Given the description of an element on the screen output the (x, y) to click on. 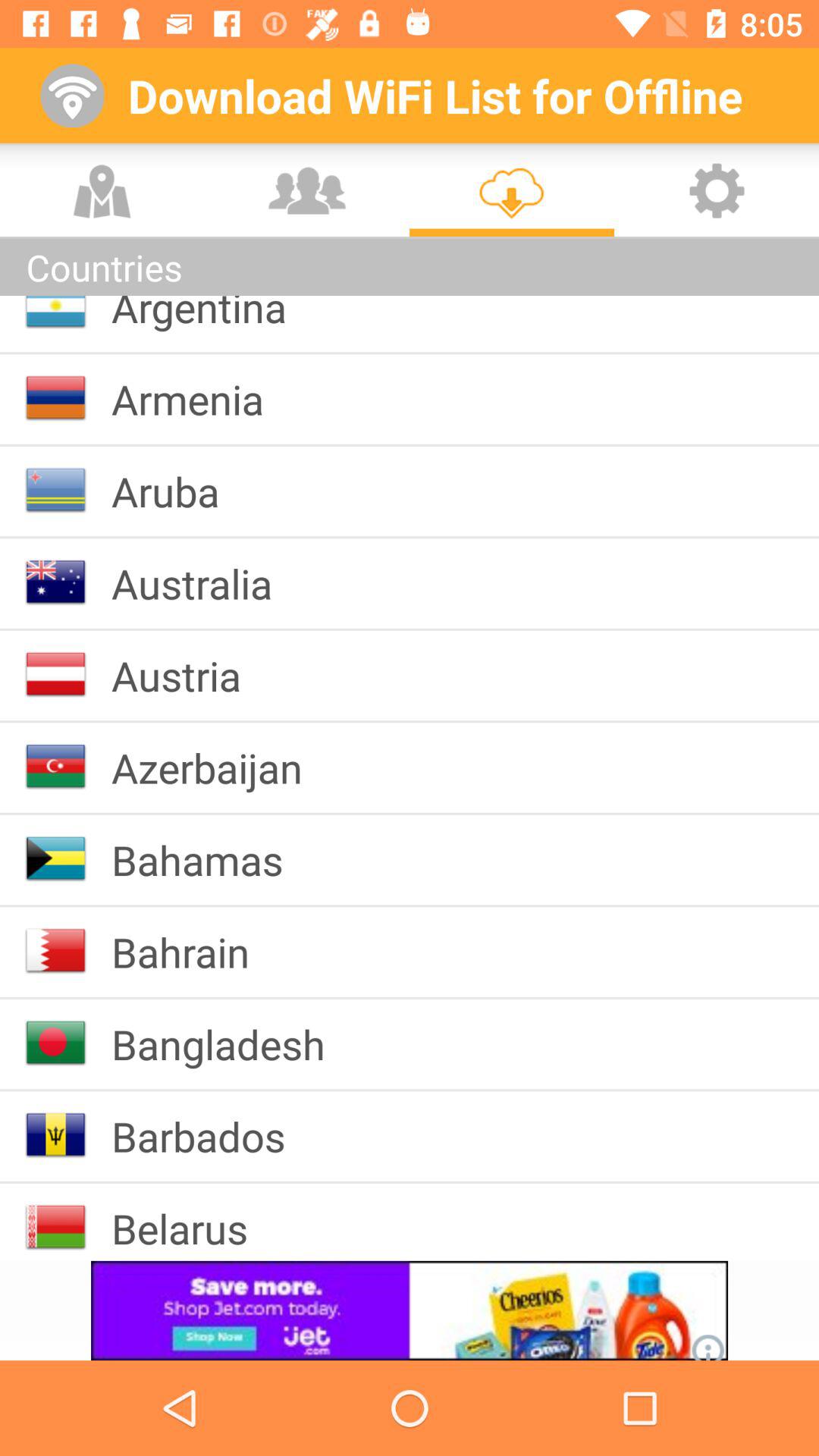
go to jet.com (409, 1310)
